Given the description of an element on the screen output the (x, y) to click on. 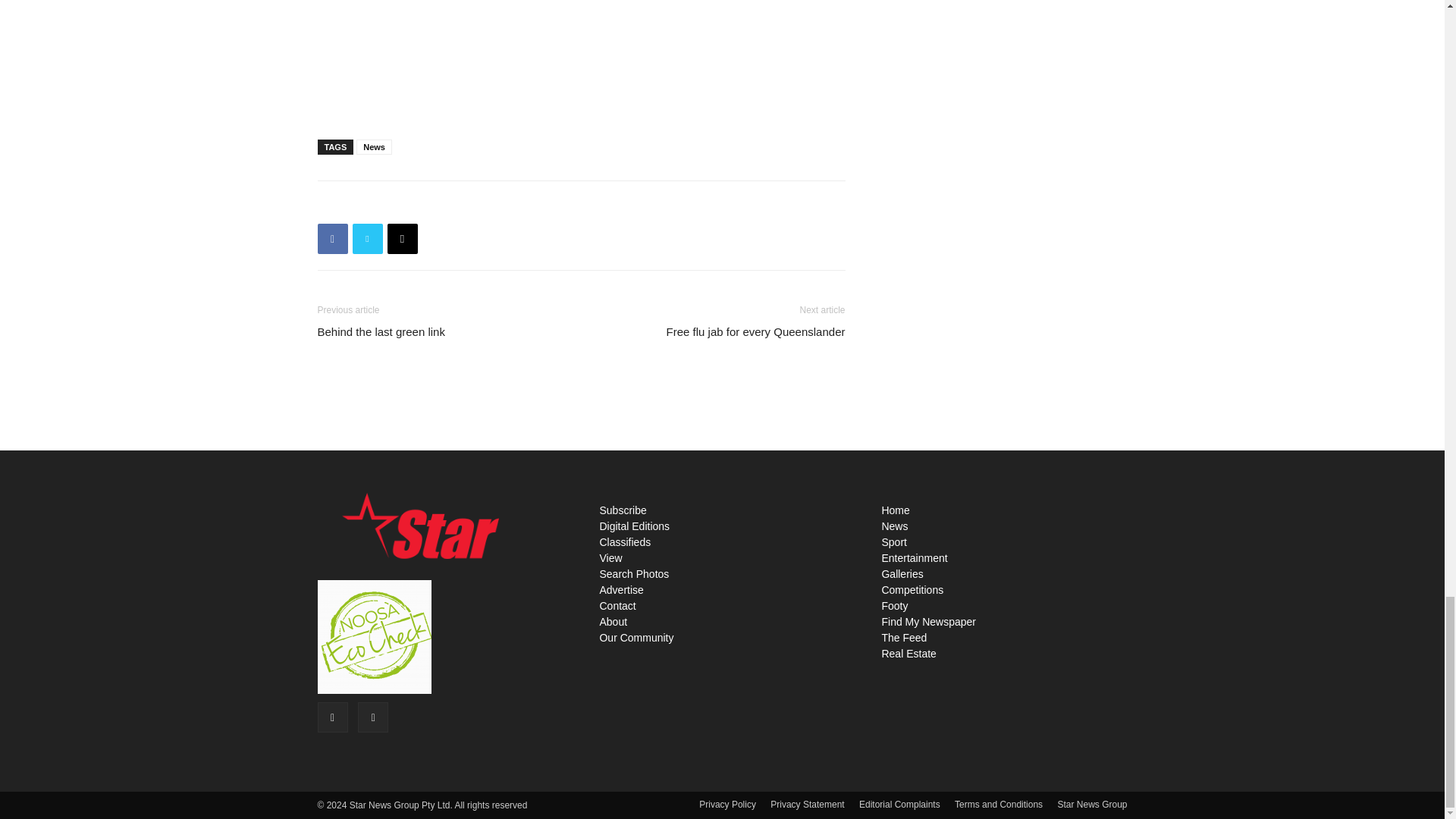
3rd party ad content (580, 55)
Facebook (332, 238)
